Given the description of an element on the screen output the (x, y) to click on. 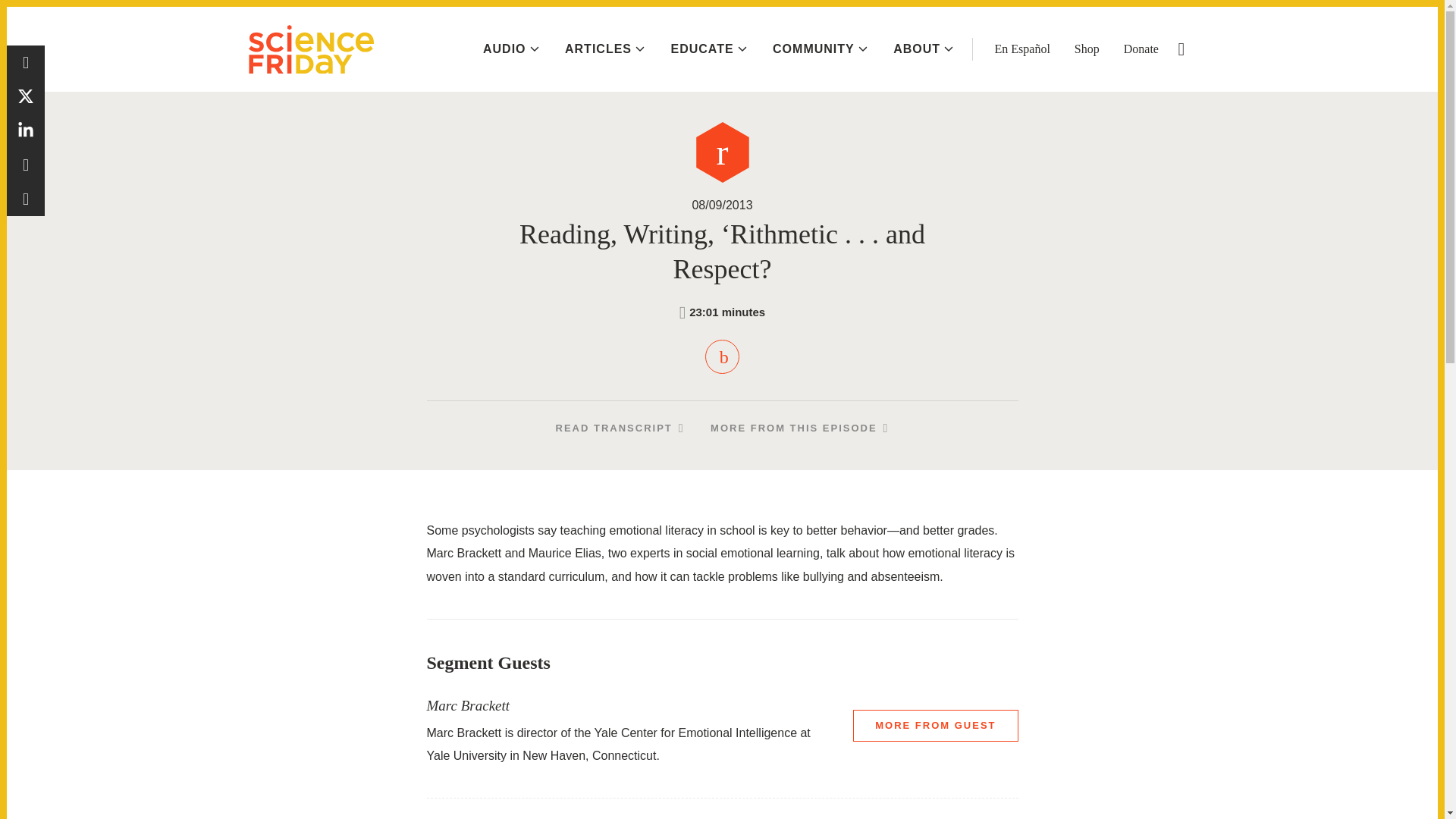
Facebook (26, 62)
Reddit (26, 164)
Email (26, 198)
Reddit (26, 164)
LinkedIn (26, 130)
More from this episode (799, 427)
LinkedIn (26, 130)
ABOUT (923, 48)
X (26, 96)
Search (1181, 48)
Email (26, 198)
Donate (1141, 48)
ARTICLES (604, 48)
Twitter (26, 96)
